Given the description of an element on the screen output the (x, y) to click on. 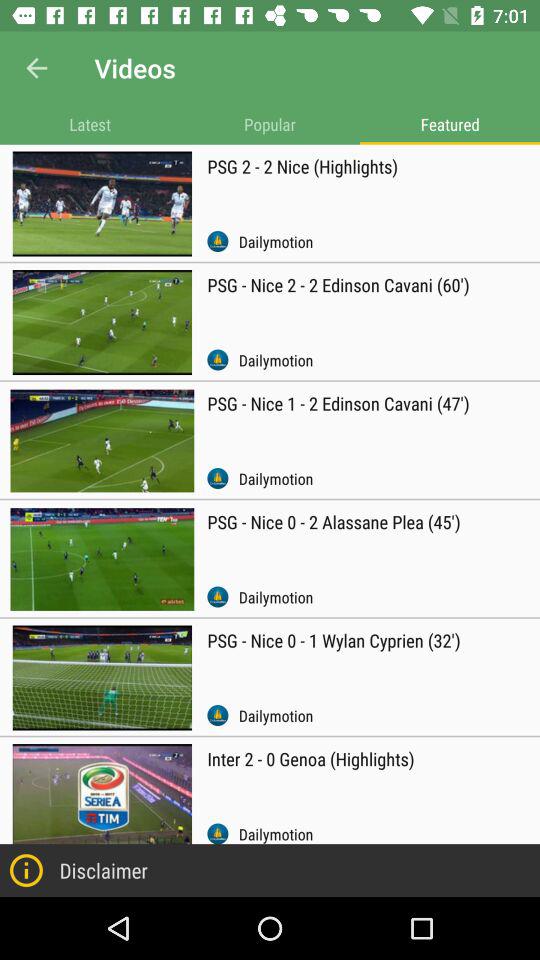
choose latest icon (90, 124)
